Given the description of an element on the screen output the (x, y) to click on. 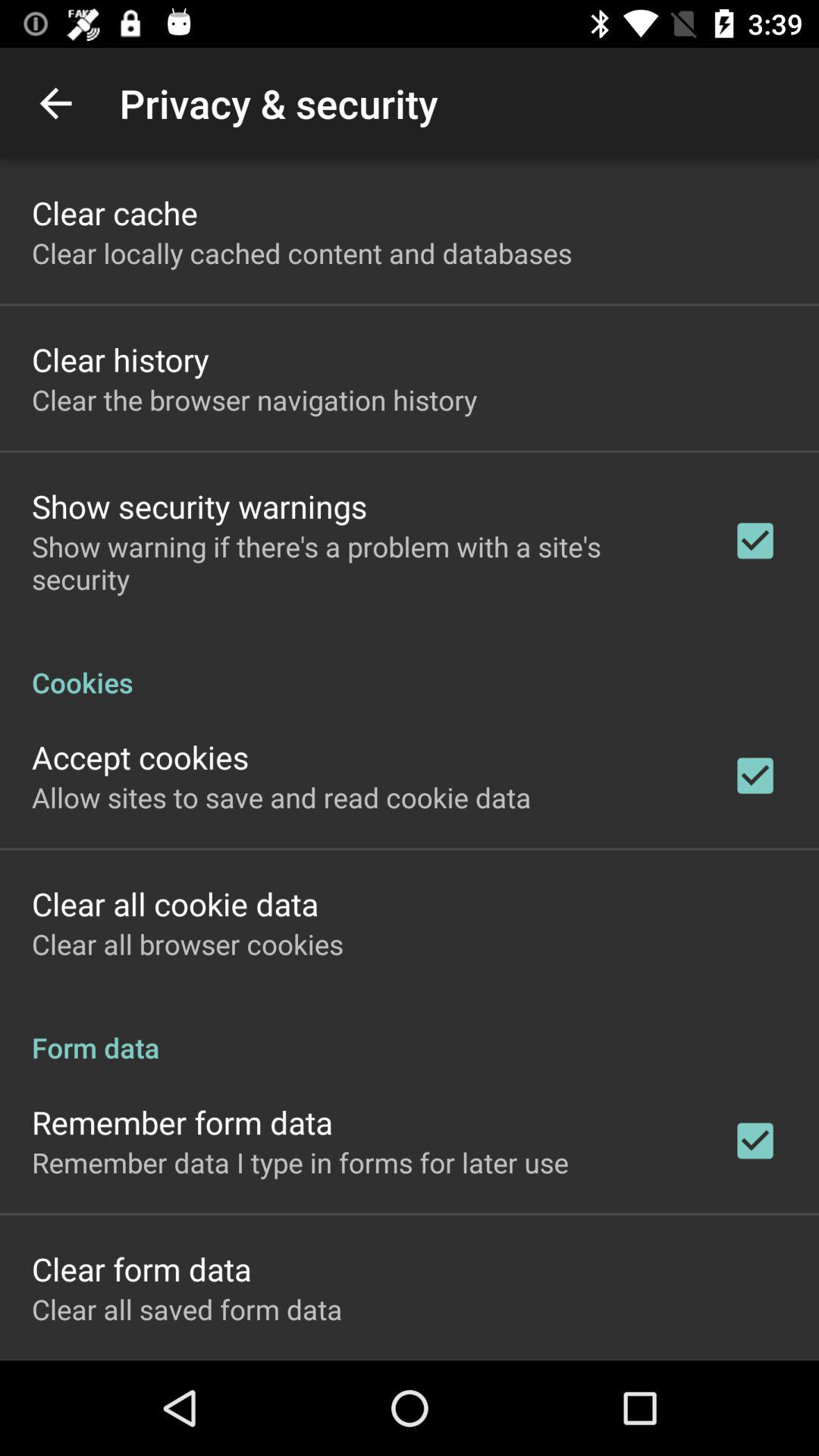
click show warning if item (361, 562)
